Given the description of an element on the screen output the (x, y) to click on. 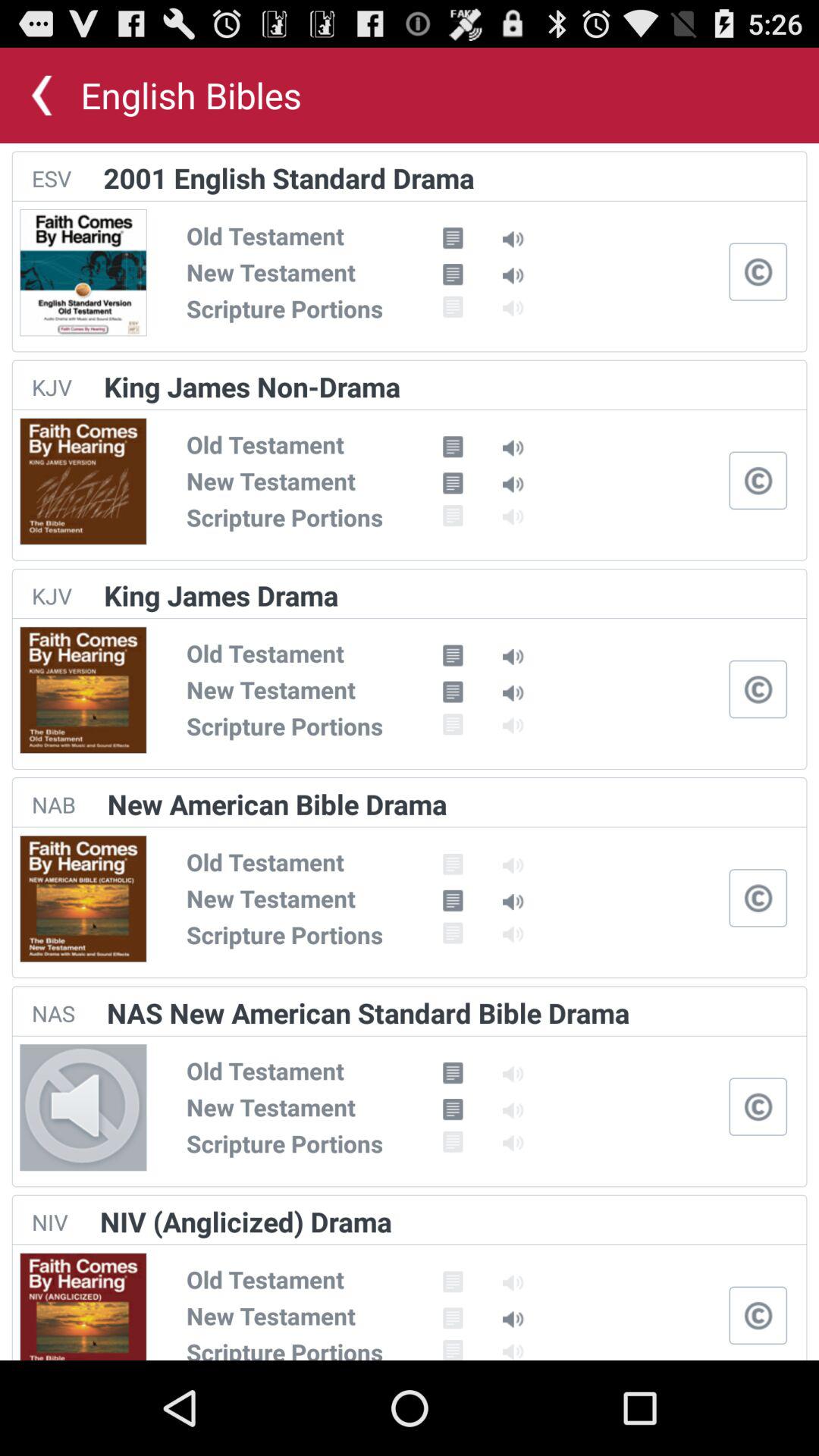
see copyright (758, 271)
